Given the description of an element on the screen output the (x, y) to click on. 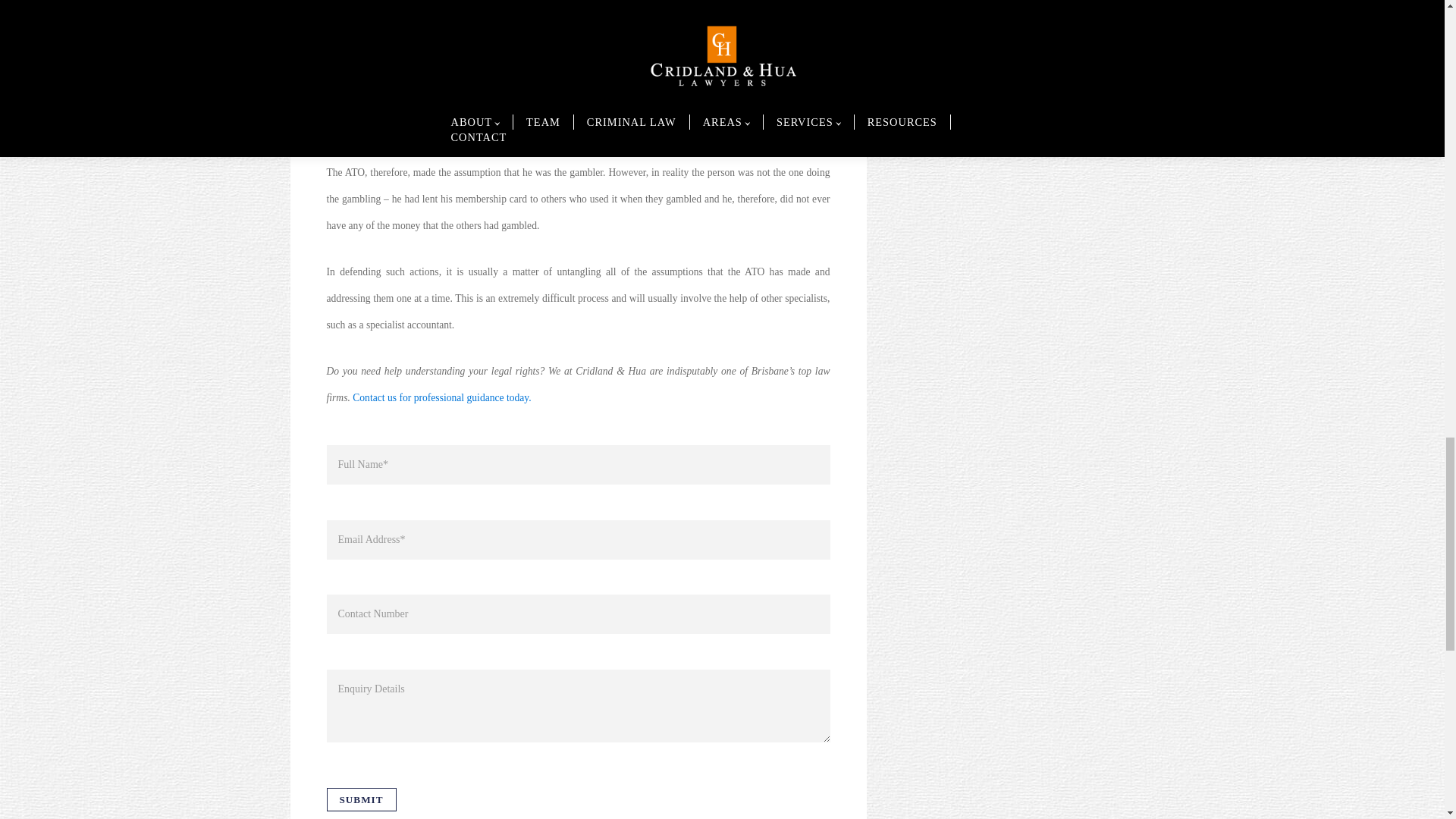
Submit (361, 799)
Contact us for professional guidance today. (441, 397)
Submit (361, 799)
